Given the description of an element on the screen output the (x, y) to click on. 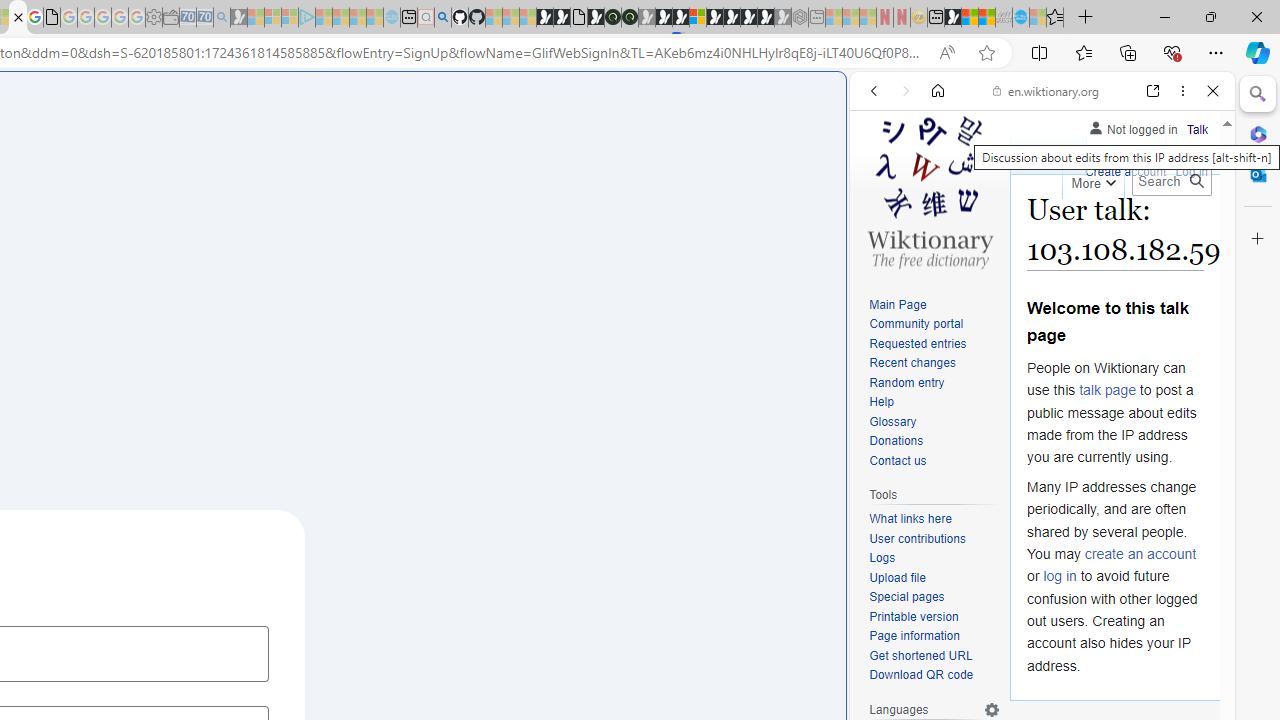
Contributions (1098, 151)
Get shortened URL (934, 655)
More (1092, 179)
Discussion (1125, 154)
Glossary (892, 421)
Talk (1197, 129)
